Given the description of an element on the screen output the (x, y) to click on. 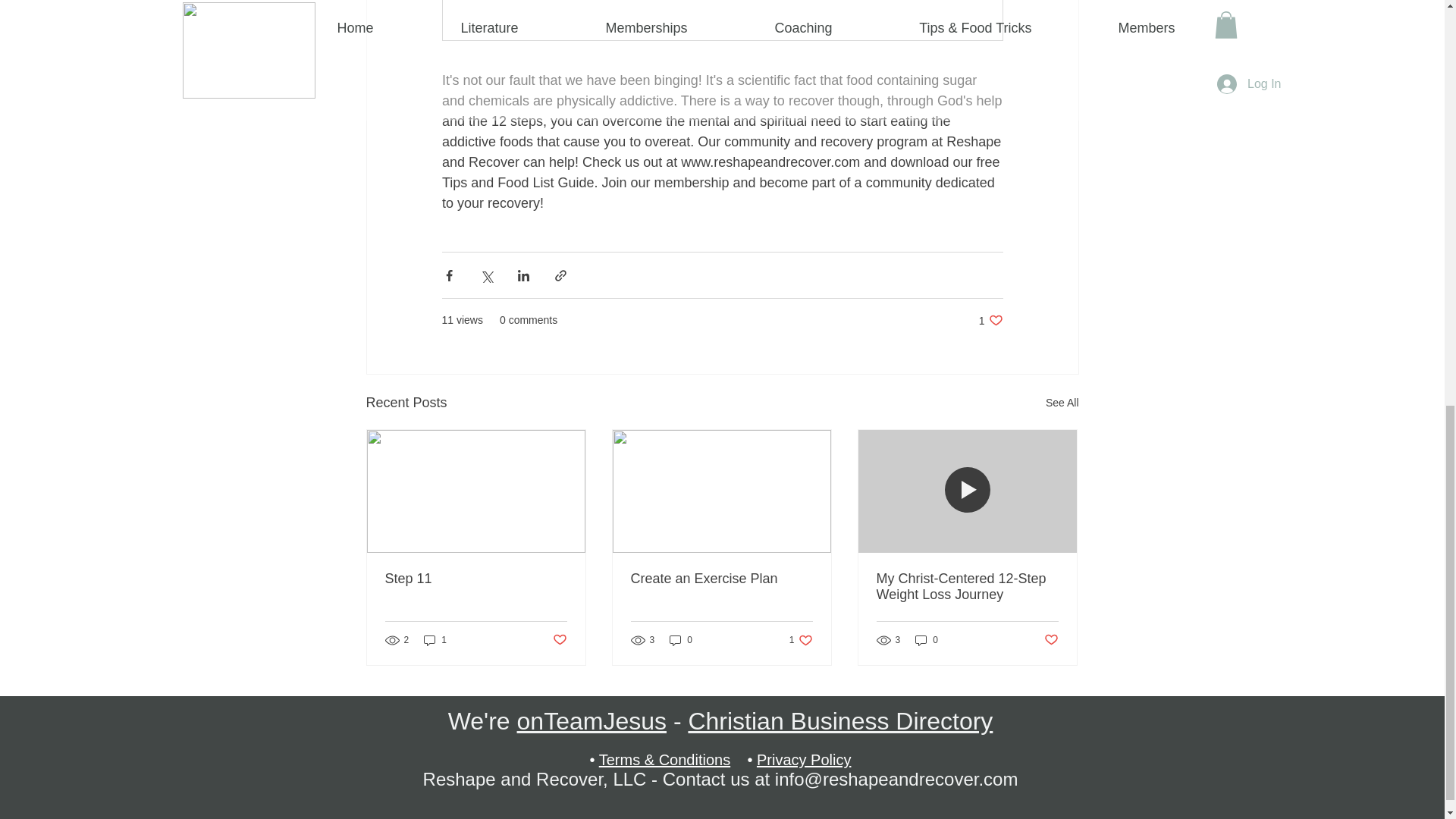
Privacy Policy (803, 759)
0 (926, 640)
Christian Business Directory (839, 720)
My Christ-Centered 12-Step Weight Loss Journey (967, 586)
See All (800, 640)
1 (1061, 403)
Create an Exercise Plan (435, 640)
Post not marked as liked (721, 578)
Post not marked as liked (558, 640)
